Given the description of an element on the screen output the (x, y) to click on. 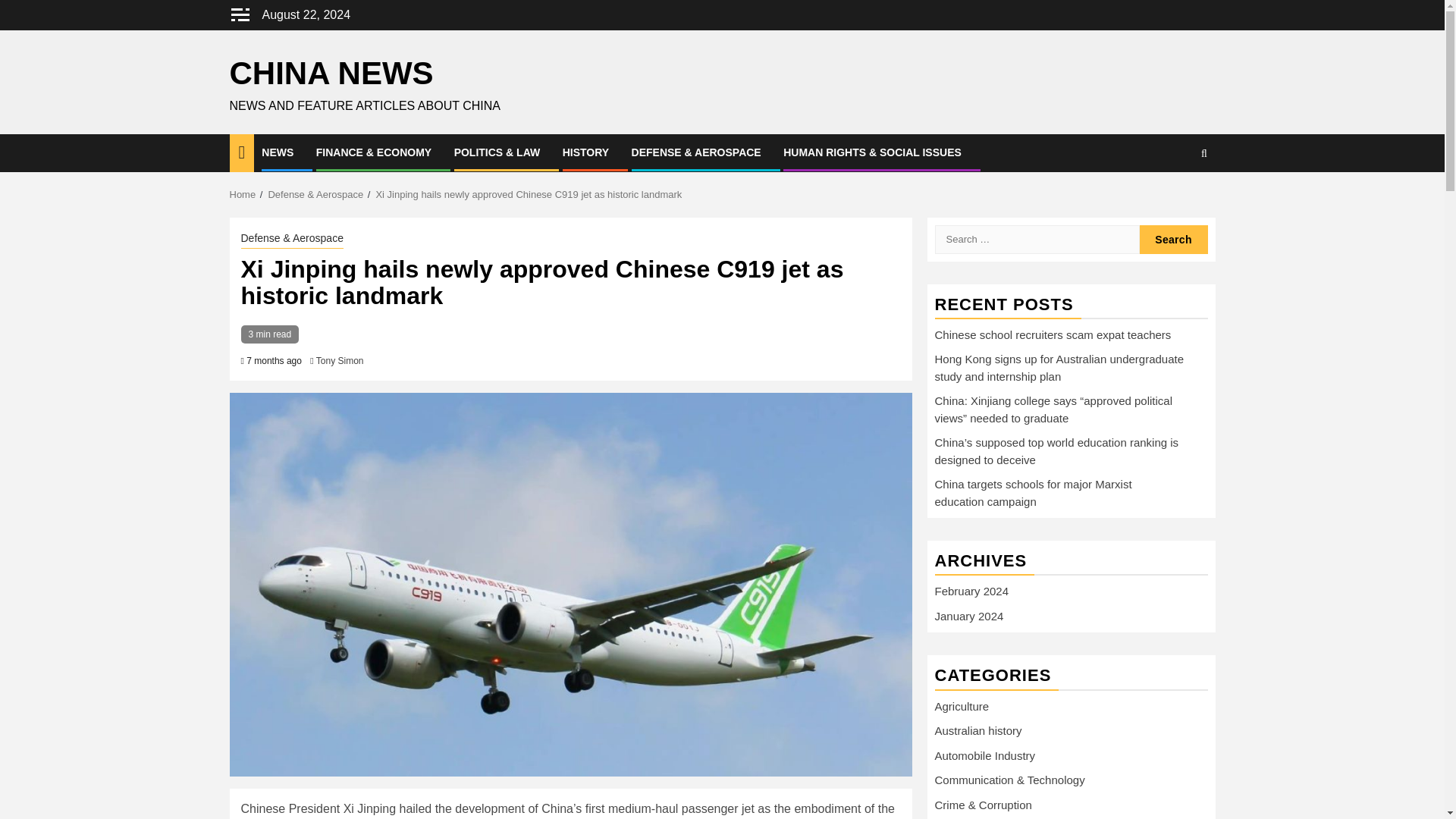
HISTORY (585, 152)
Search (1172, 238)
CHINA NEWS (330, 72)
NEWS (278, 152)
Search (1172, 238)
Tony Simon (339, 360)
Home (242, 194)
Search (1174, 199)
